Given the description of an element on the screen output the (x, y) to click on. 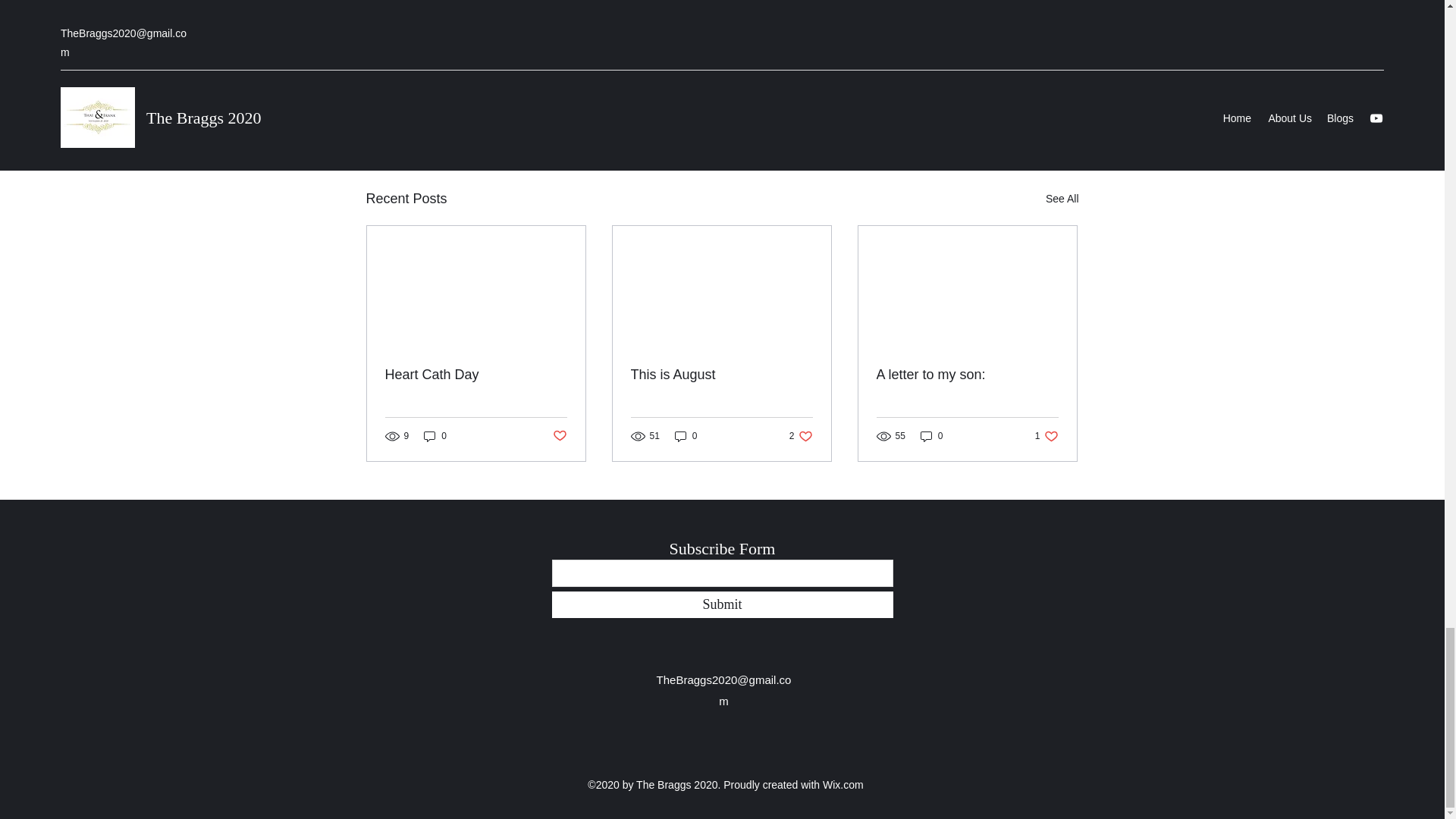
0 (435, 436)
Submit (990, 115)
A letter to my son: (722, 604)
0 (967, 374)
Family Fun (685, 436)
0 (1046, 436)
FDB2 (933, 70)
Heart Cath Day (931, 436)
Post not marked as liked (989, 70)
This is August (800, 436)
See All (476, 374)
